Given the description of an element on the screen output the (x, y) to click on. 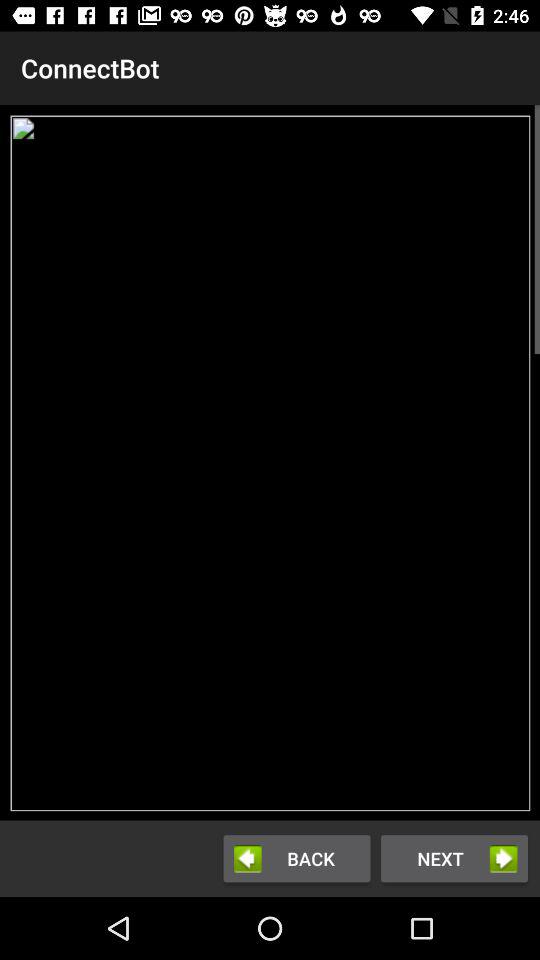
scroll to the back (296, 858)
